Given the description of an element on the screen output the (x, y) to click on. 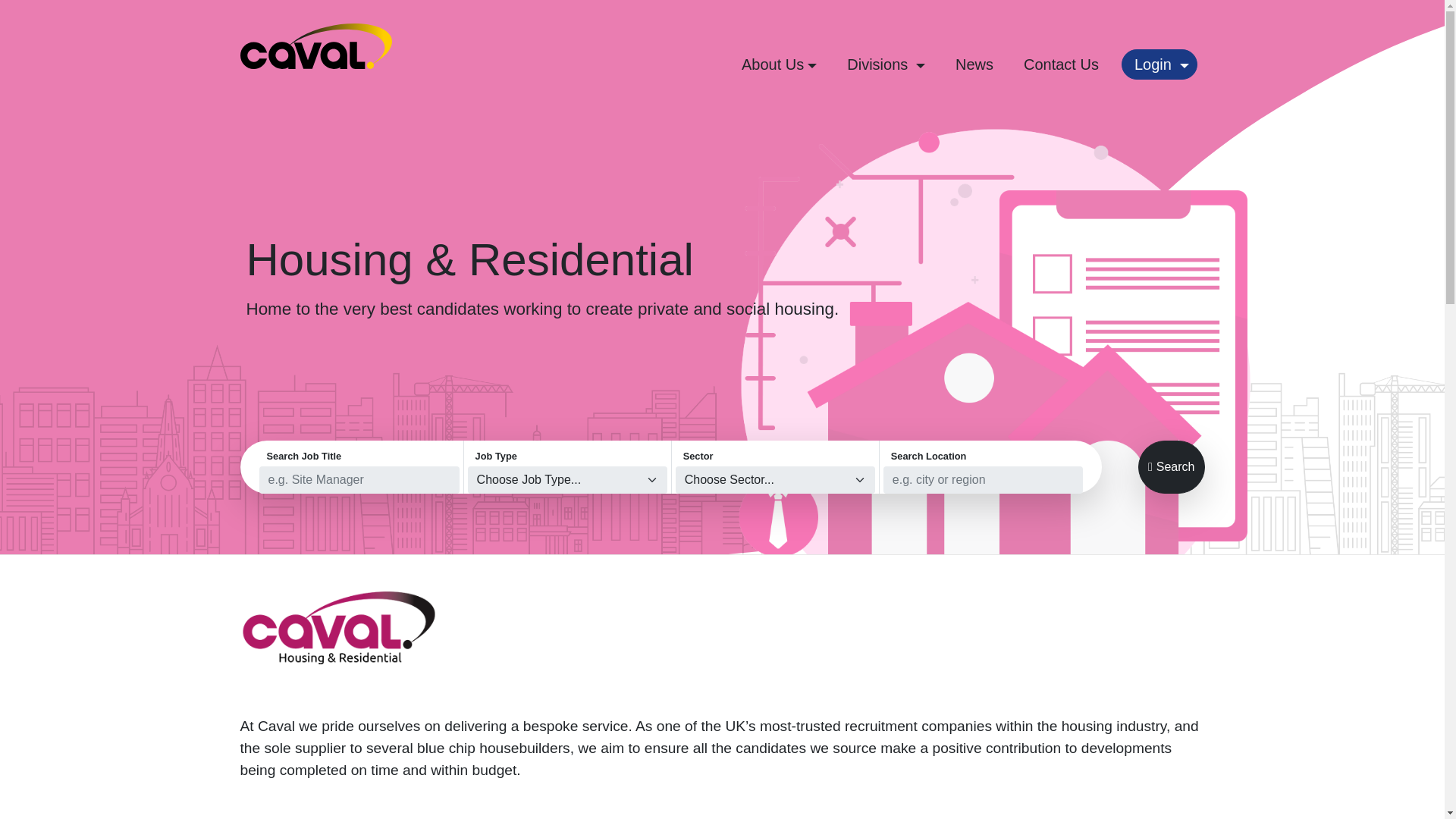
Login (1158, 64)
About Us (778, 64)
Search (1171, 466)
Contact Us (1061, 64)
Divisions (886, 64)
News (974, 64)
